Given the description of an element on the screen output the (x, y) to click on. 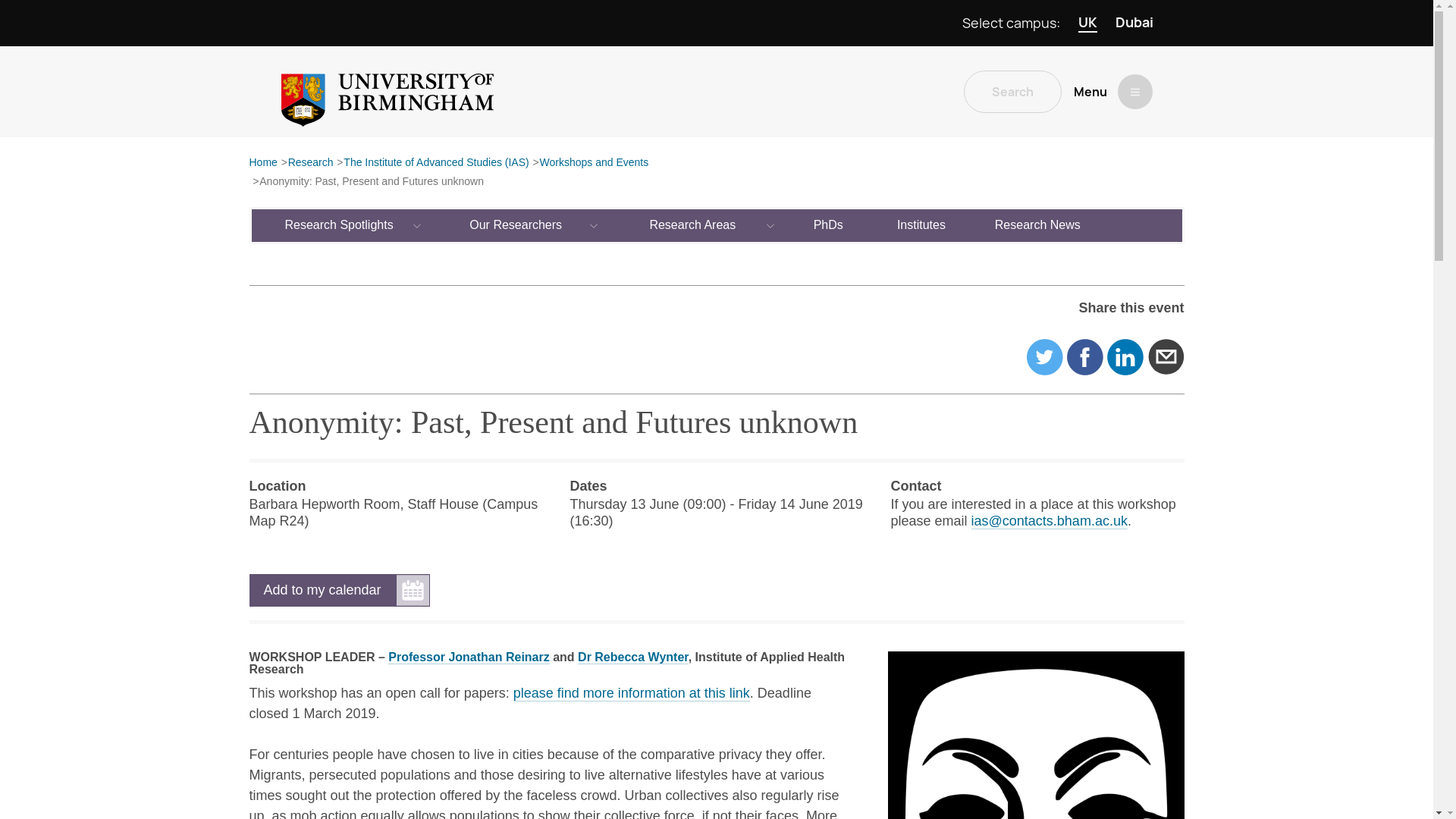
Research Areas (693, 224)
Research (310, 163)
Home (262, 163)
UK (1087, 23)
Our Researchers (516, 224)
Anonymity: Past, Present and Futures unknown (371, 182)
Dubai (1134, 23)
Workshops and Events (592, 163)
Search (1012, 91)
Research Spotlights (339, 224)
